Given the description of an element on the screen output the (x, y) to click on. 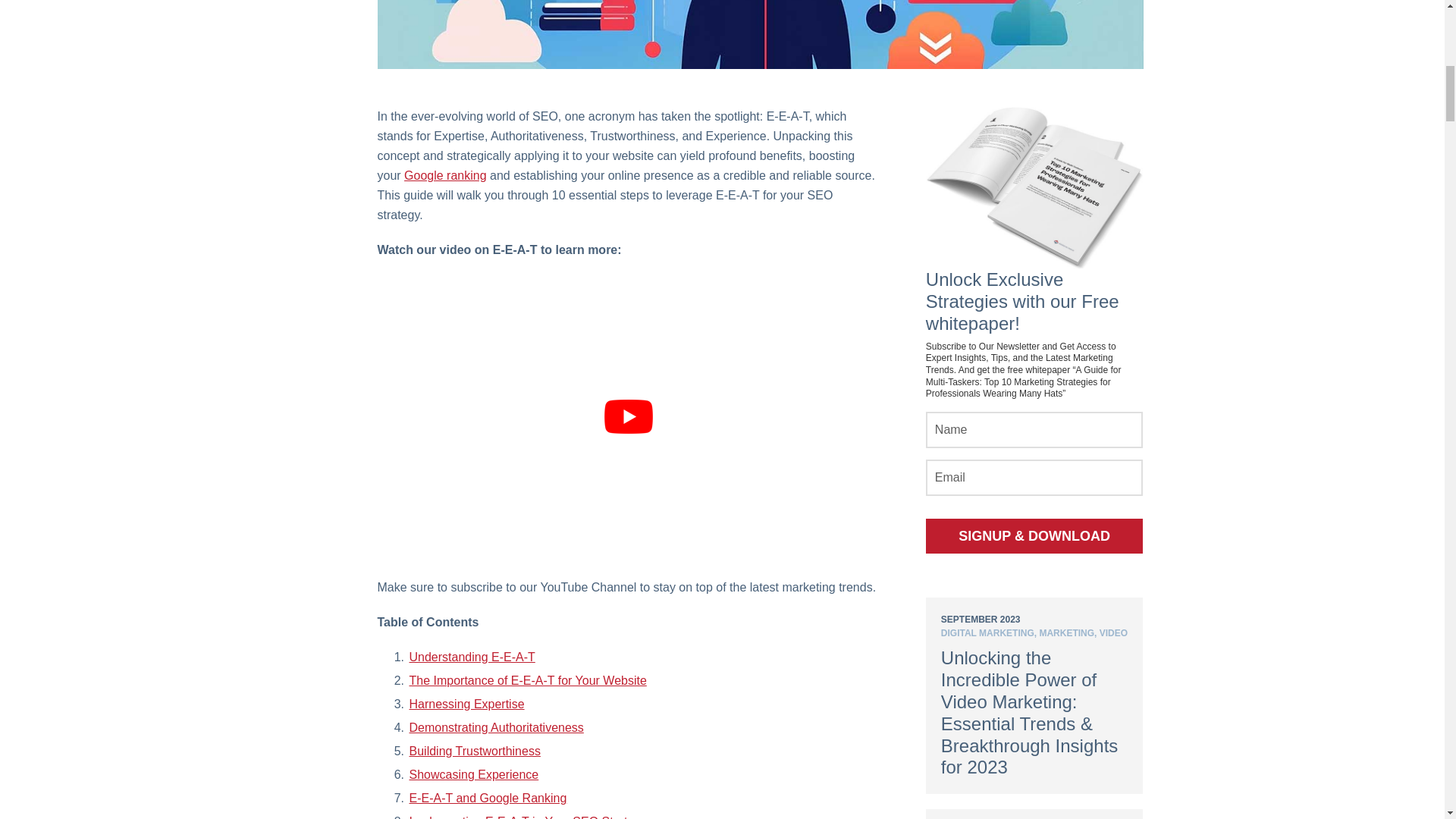
YouTube Channel (588, 586)
Understanding E-E-A-T (472, 656)
E-E-A-T and Google Ranking (488, 797)
Showcasing Experience (473, 774)
Harnessing Expertise (466, 703)
Demonstrating Authoritativeness (496, 727)
The Importance of E-E-A-T for Your Website (527, 680)
Google ranking (445, 174)
Building Trustworthiness (474, 750)
